Given the description of an element on the screen output the (x, y) to click on. 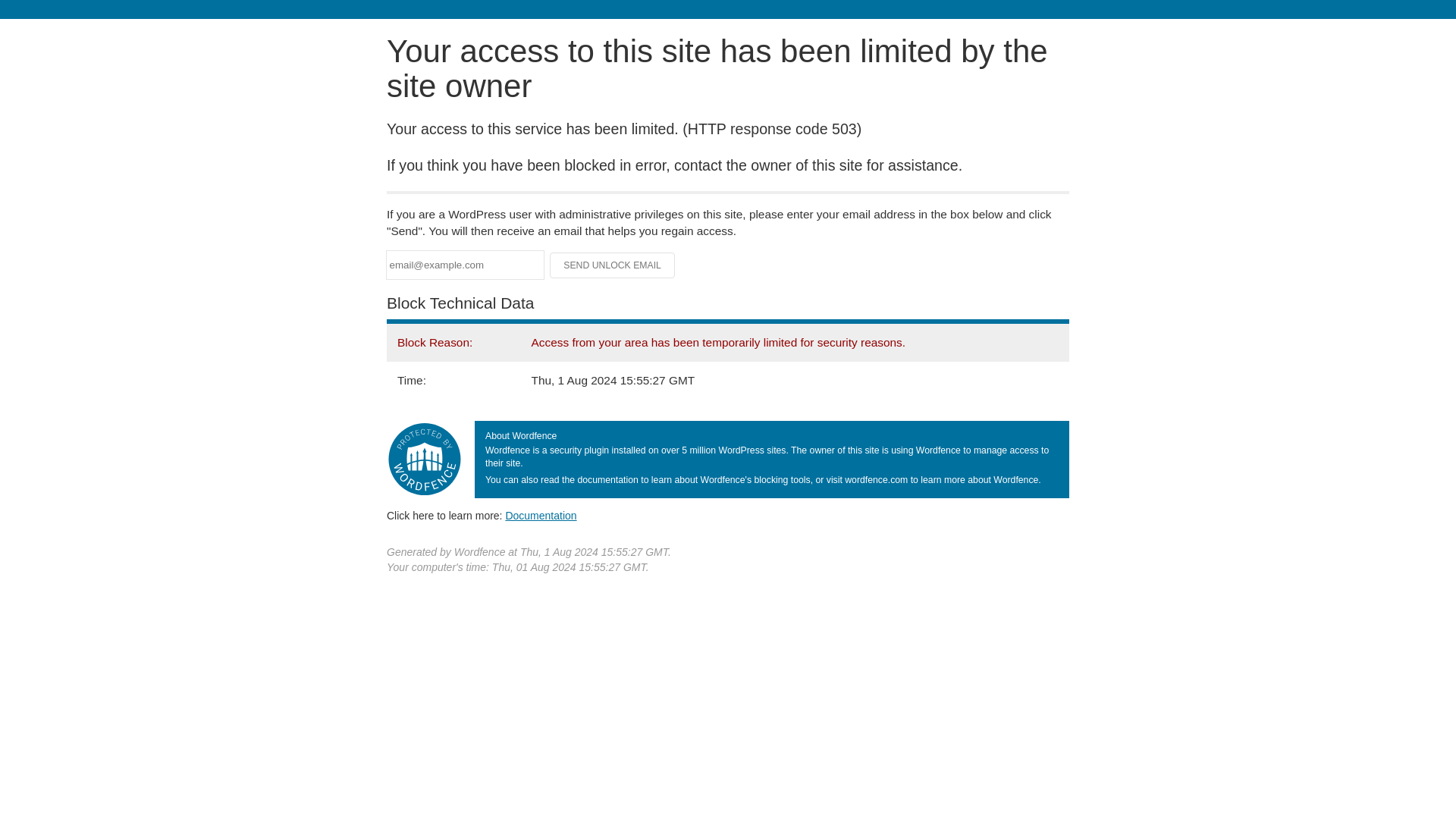
Send Unlock Email (612, 265)
Send Unlock Email (612, 265)
Documentation (540, 515)
